Given the description of an element on the screen output the (x, y) to click on. 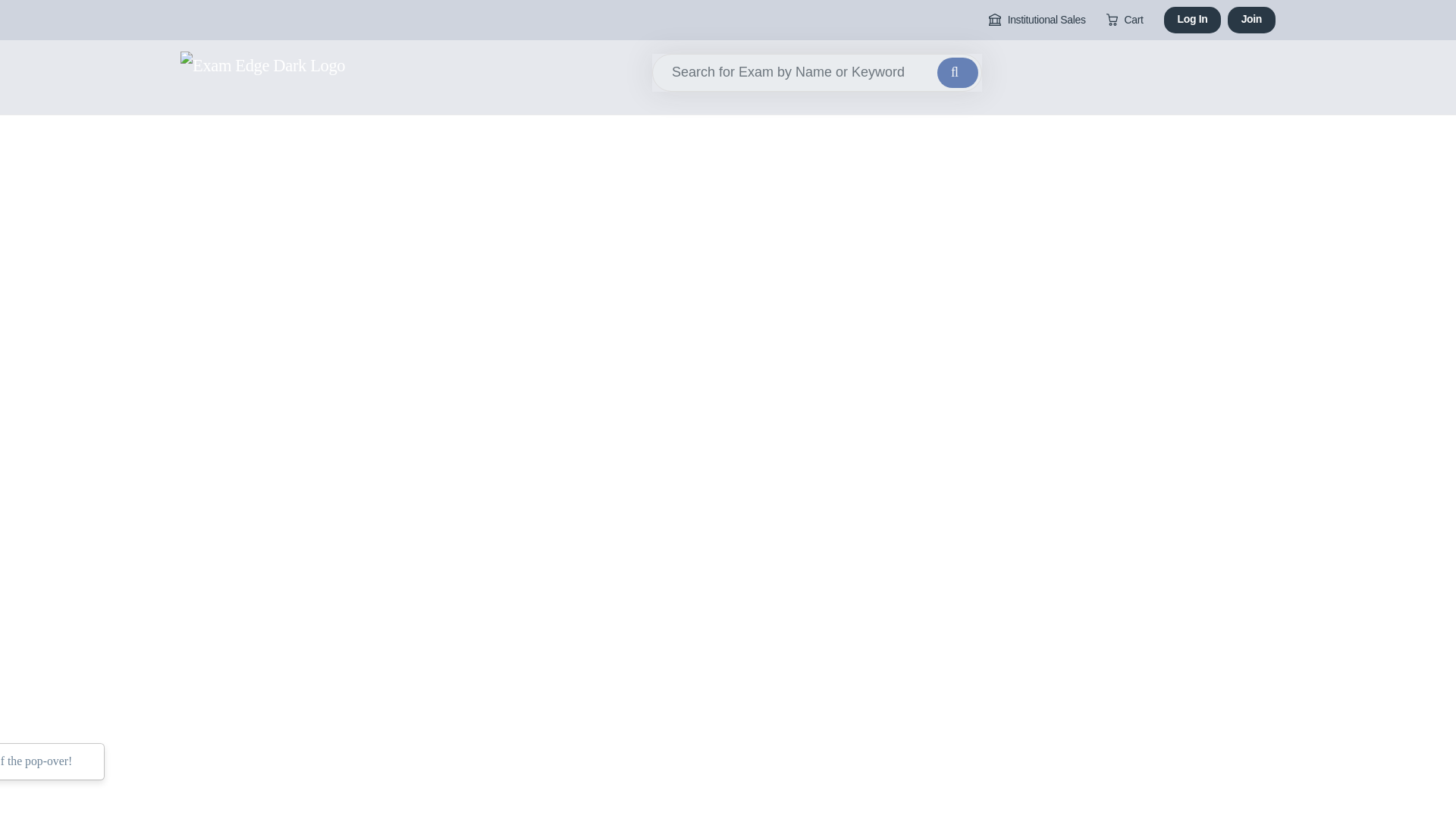
Log In (1192, 19)
Cart (1124, 19)
Join (1251, 19)
Institutional Sales (1037, 19)
